Given the description of an element on the screen output the (x, y) to click on. 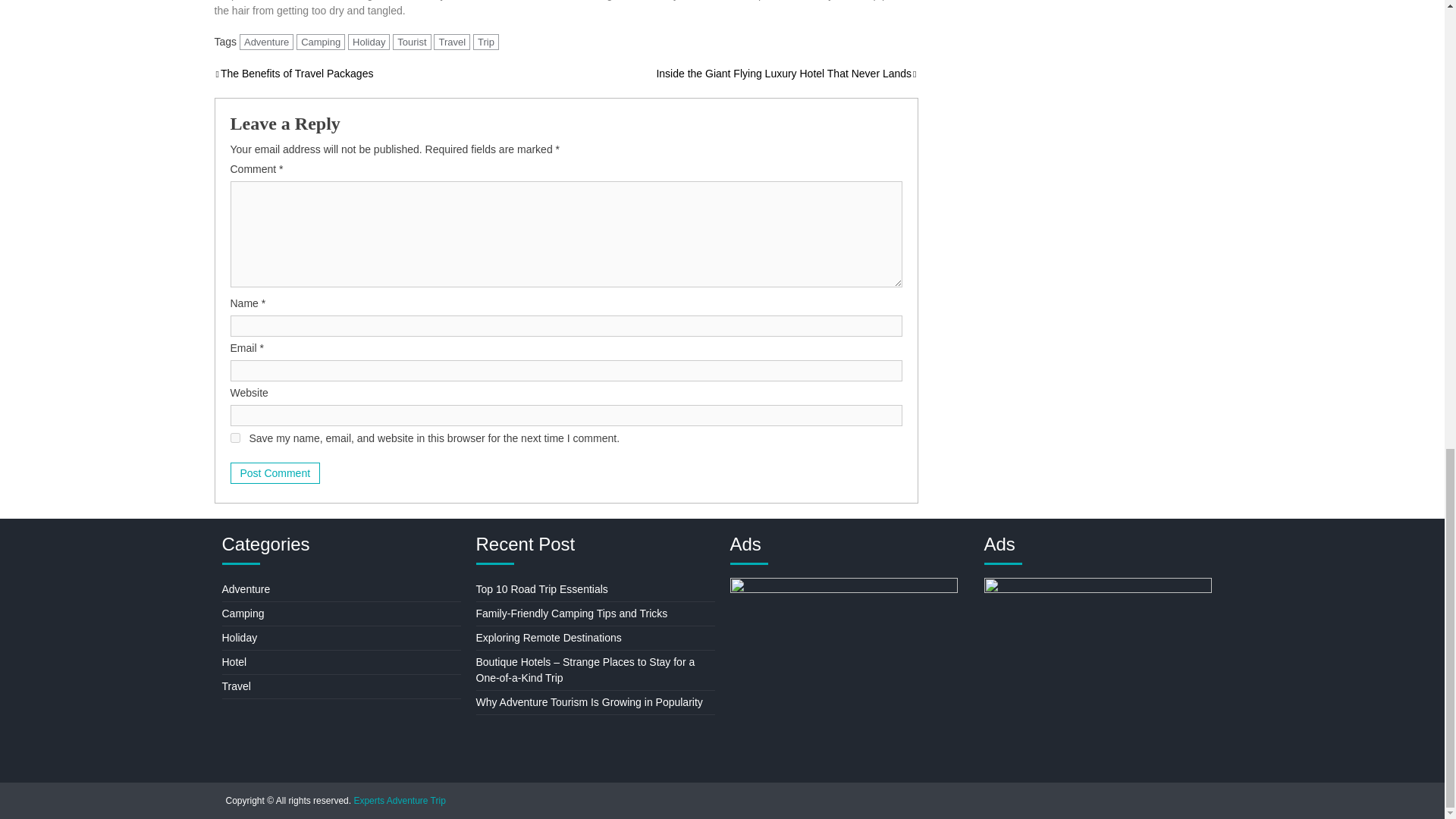
Camping (242, 613)
Adventure (245, 589)
Exploring Remote Destinations (548, 637)
Travel (235, 686)
Post Comment (275, 473)
Family-Friendly Camping Tips and Tricks (572, 613)
yes (235, 438)
Camping (321, 41)
Top 10 Road Trip Essentials (542, 589)
Experts Adventure Trip (399, 800)
Why Adventure Tourism Is Growing in Popularity (589, 702)
Inside the Giant Flying Luxury Hotel That Never Lands (786, 73)
Post Comment (275, 473)
Holiday (368, 41)
Travel (451, 41)
